Given the description of an element on the screen output the (x, y) to click on. 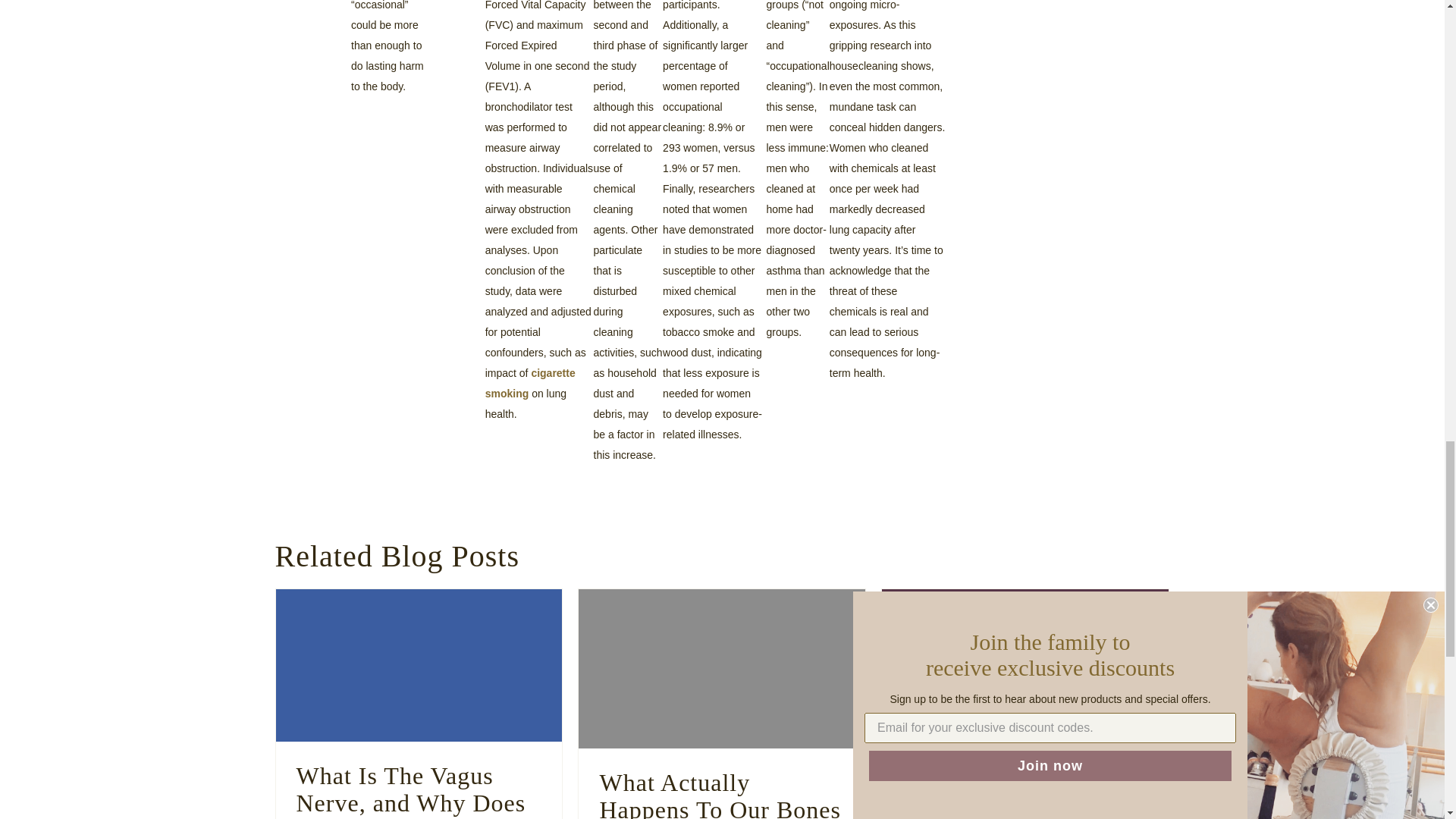
What Actually Happens To Our Bones In Menopause? (721, 668)
Biohacking Gut Health (1022, 777)
What Actually Happens To Our Bones In Menopause? (719, 794)
What Is The Vagus Nerve, and Why Does It Matter? (419, 665)
Biohacking Gut Health (1025, 665)
What Is The Vagus Nerve, and Why Does It Matter? (410, 790)
